Given the description of an element on the screen output the (x, y) to click on. 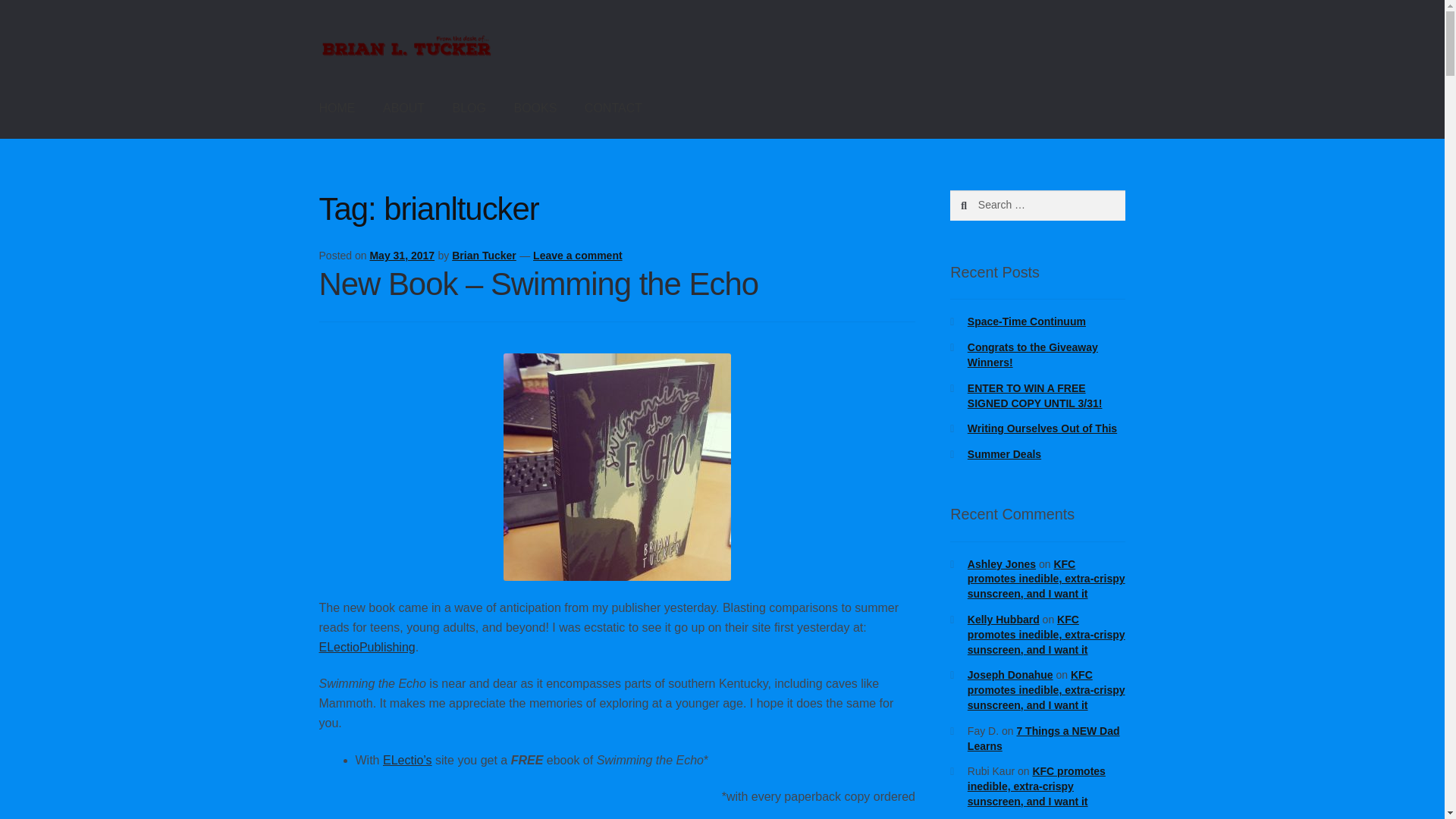
ABOUT (403, 108)
Brian Tucker (483, 255)
BOOKS (534, 108)
BLOG (469, 108)
ELectioPublishing (366, 646)
Leave a comment (577, 255)
CONTACT (612, 108)
HOME (337, 108)
May 31, 2017 (401, 255)
